Given the description of an element on the screen output the (x, y) to click on. 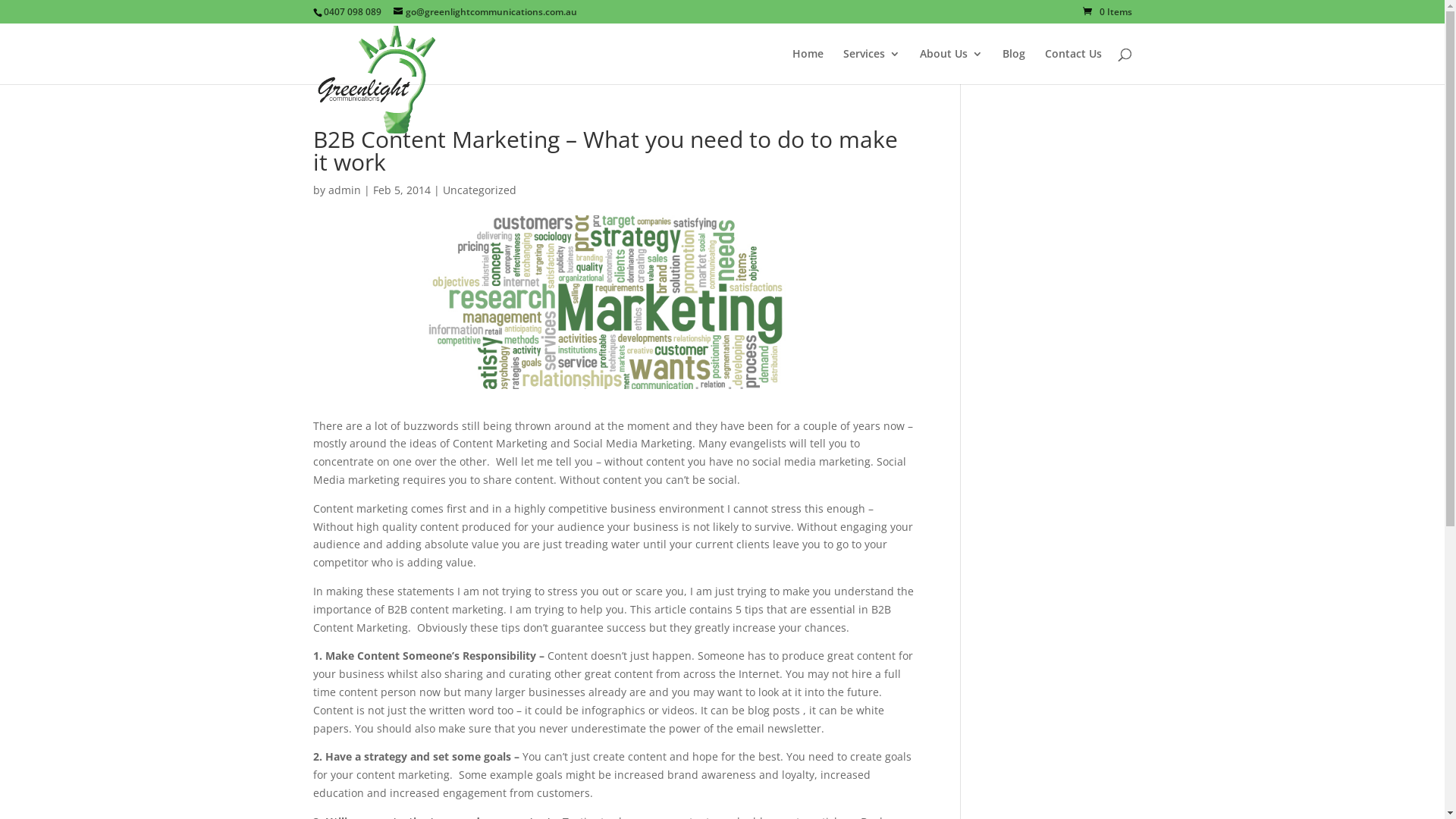
0 Items Element type: text (1107, 11)
Blog Element type: text (1013, 66)
About Us Element type: text (950, 66)
Uncategorized Element type: text (479, 189)
Home Element type: text (806, 66)
admin Element type: text (343, 189)
Contact Us Element type: text (1072, 66)
go@greenlightcommunications.com.au Element type: text (484, 11)
Services Element type: text (871, 66)
